Given the description of an element on the screen output the (x, y) to click on. 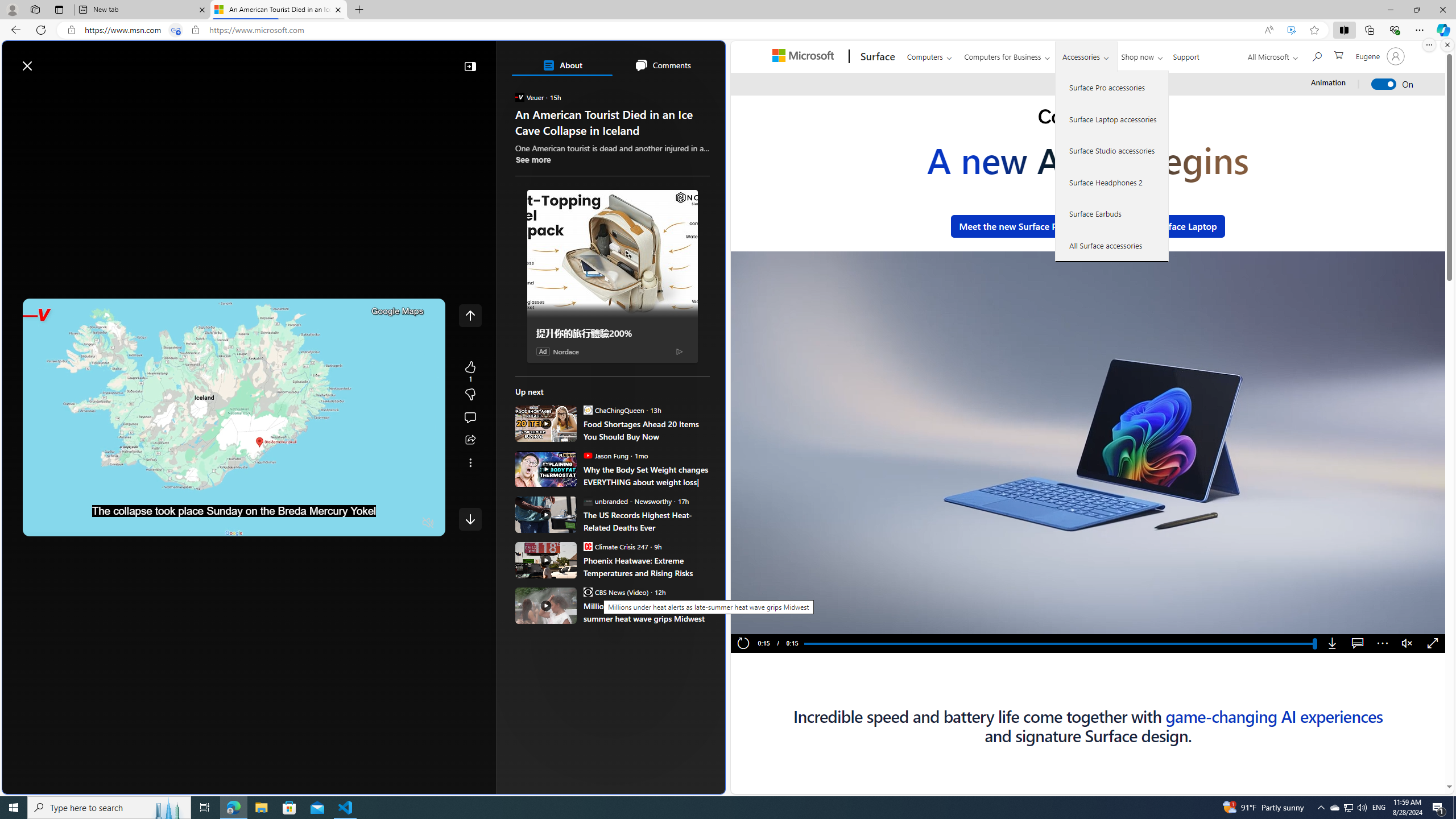
0 items in shopping cart (1338, 53)
Replay (742, 643)
unbranded - Newsworthy (587, 500)
Surface Studio accessories (1112, 150)
Captions (1357, 643)
Food Shortages Ahead 20 Items You Should Buy Now (545, 423)
Surface Earbuds (1112, 214)
All Surface accessories (1112, 245)
Class: control (469, 518)
Food Shortages Ahead 20 Items You Should Buy Now (646, 430)
